Given the description of an element on the screen output the (x, y) to click on. 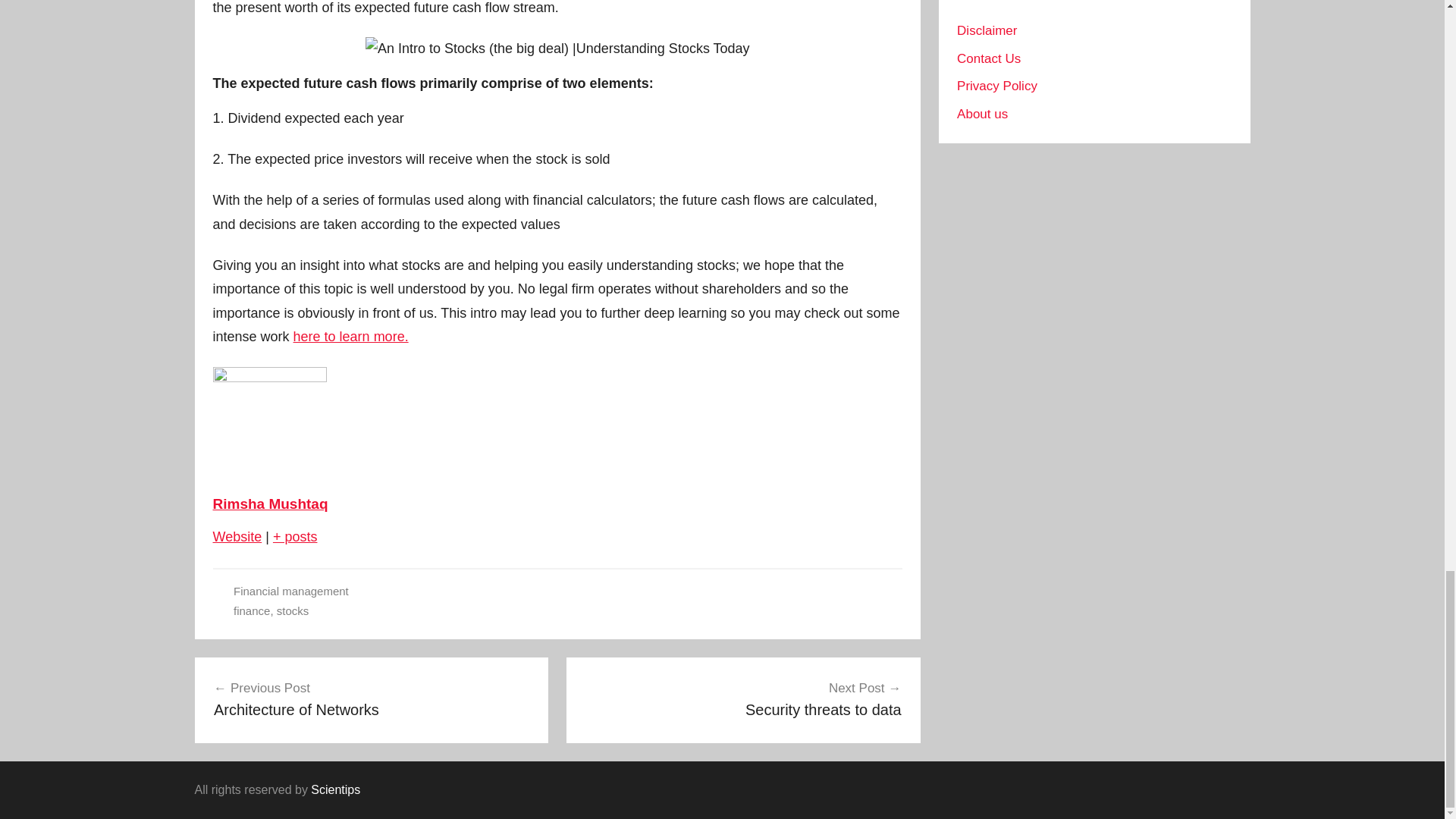
finance (250, 610)
Website (237, 536)
Financial management (290, 590)
stocks (743, 699)
here to learn more. (292, 610)
Rimsha Mushtaq (371, 699)
